Given the description of an element on the screen output the (x, y) to click on. 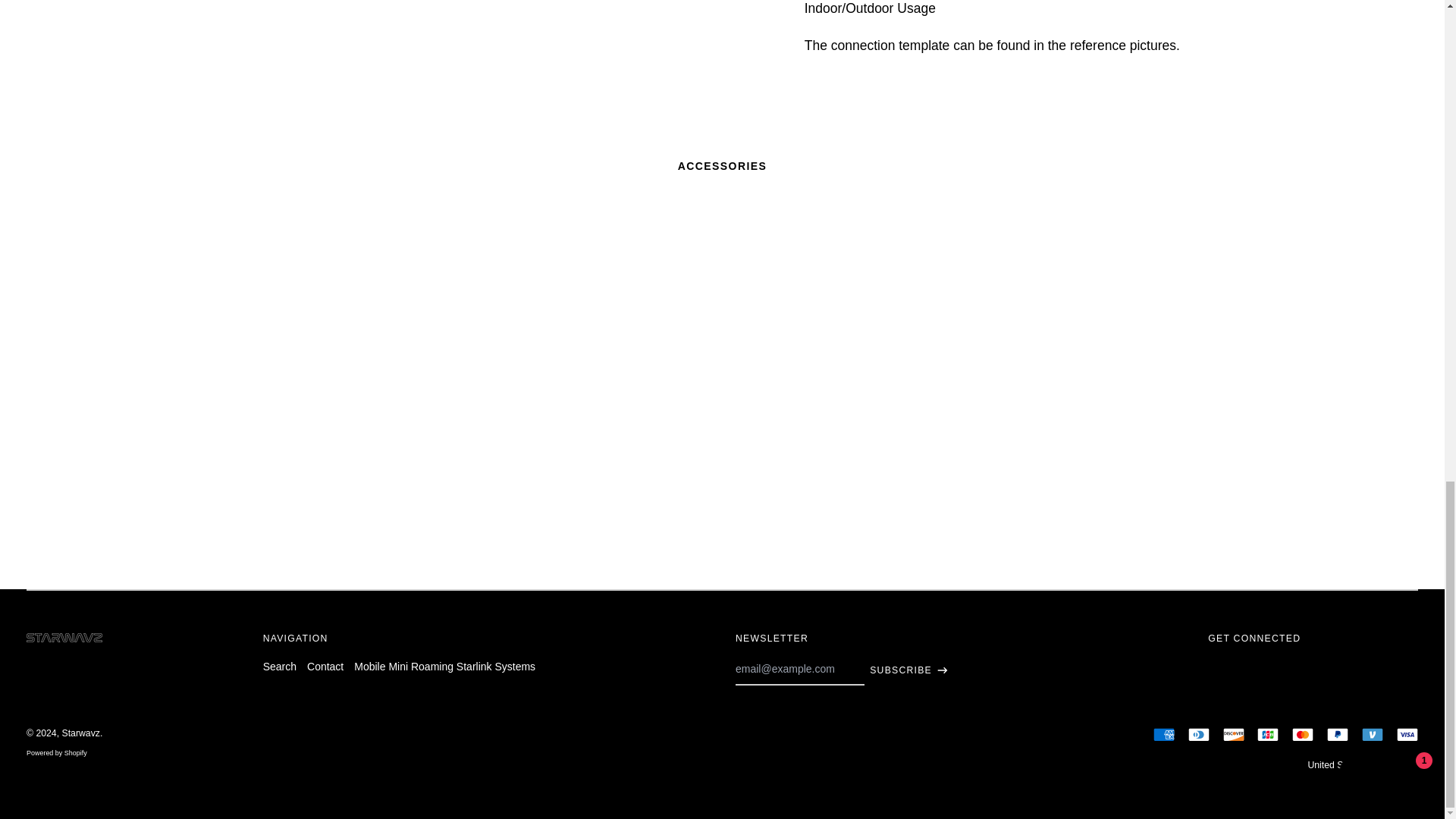
Search (280, 666)
